Given the description of an element on the screen output the (x, y) to click on. 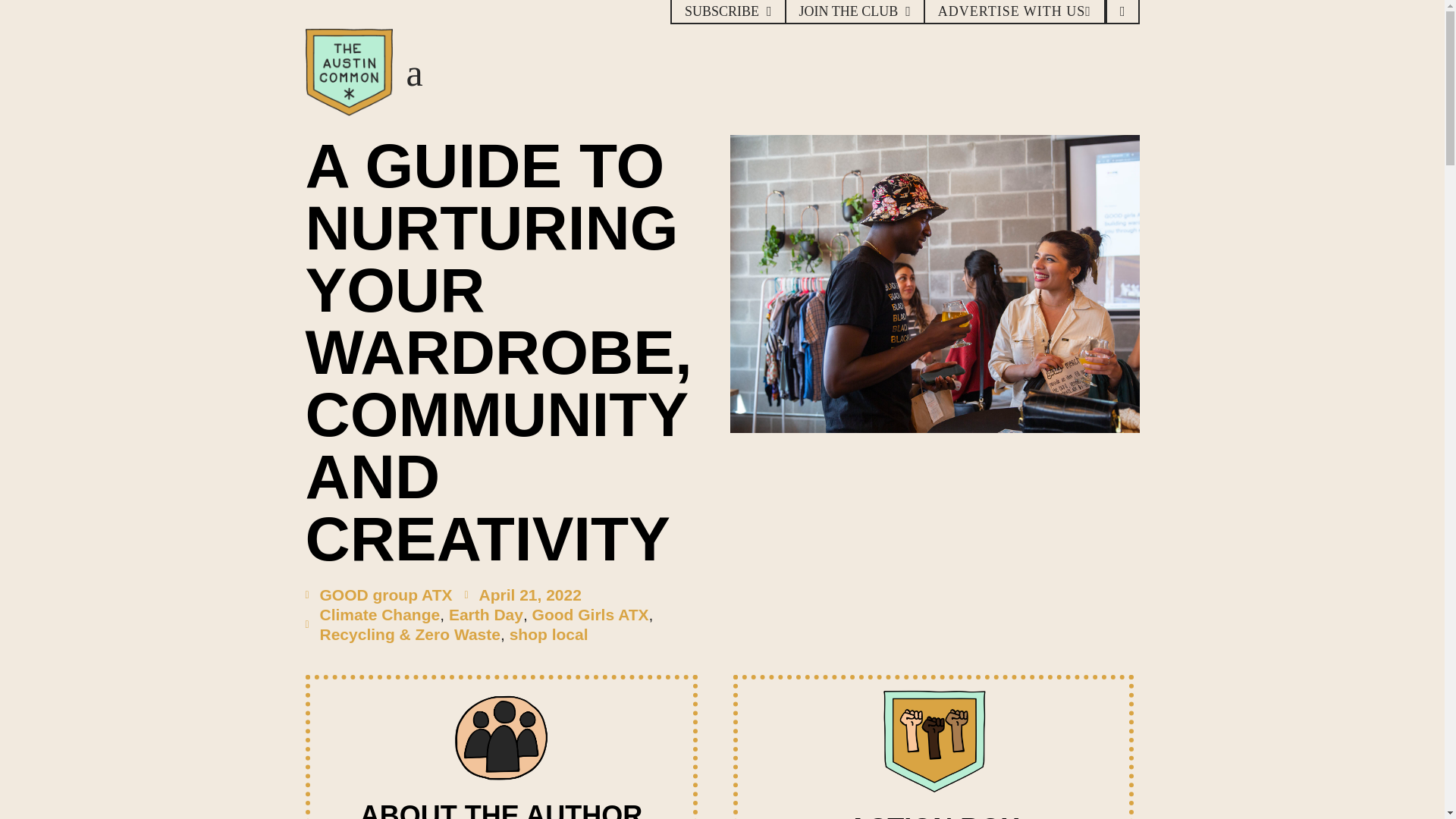
Earth Day (485, 614)
Good Girls ATX (590, 614)
GOOD group ATX (377, 595)
ADVERTISE WITH US (1014, 12)
April 21, 2022 (522, 595)
shop local (548, 633)
JOIN THE CLUB (854, 12)
SUBSCRIBE (727, 12)
Climate Change (380, 614)
